Given the description of an element on the screen output the (x, y) to click on. 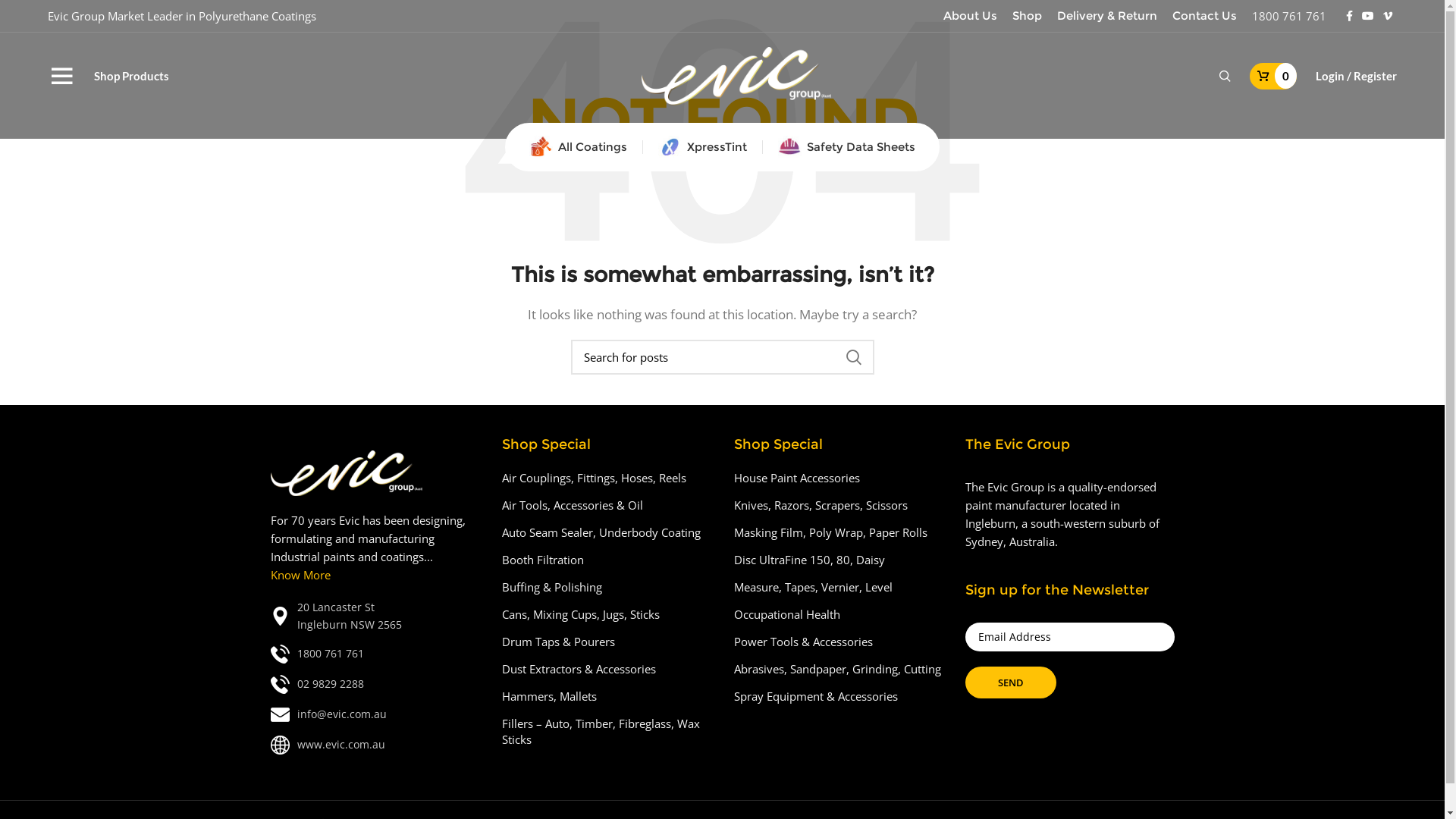
Booth Filtration Element type: text (543, 559)
Search Element type: hover (1224, 75)
Hammers, Mallets Element type: text (550, 696)
Send Element type: text (1010, 682)
Search for posts Element type: hover (721, 356)
XpressTint Element type: text (702, 146)
All Coatings Element type: text (578, 146)
Login / Register Element type: text (1356, 75)
Air Tools, Accessories & Oil Element type: text (573, 505)
SEARCH Element type: text (853, 356)
Disc UltraFine 150, 80, Daisy Element type: text (810, 559)
Know More Element type: text (299, 574)
Spray Equipment & Accessories Element type: text (816, 696)
Masking Film, Poly Wrap, Paper Rolls Element type: text (831, 532)
Dust Extractors & Accessories Element type: text (579, 669)
Shop Element type: text (1026, 15)
Safety Data Sheets Element type: text (846, 146)
Air Couplings, Fittings, Hoses, Reels Element type: text (594, 478)
Power Tools & Accessories Element type: text (804, 641)
House Paint Accessories Element type: text (797, 478)
0 Element type: text (1272, 75)
Abrasives, Sandpaper, Grinding, Cutting Element type: text (838, 669)
Knives, Razors, Scrapers, Scissors Element type: text (821, 505)
Contact Us Element type: text (1204, 15)
Drum Taps & Pourers Element type: text (559, 641)
About Us Element type: text (969, 15)
Occupational Health Element type: text (787, 614)
Cans, Mixing Cups, Jugs, Sticks Element type: text (581, 614)
Delivery & Return Element type: text (1106, 15)
Measure, Tapes, Vernier, Level Element type: text (814, 587)
Auto Seam Sealer, Underbody Coating Element type: text (602, 532)
1800 761 761 Element type: text (1289, 15)
Buffing & Polishing Element type: text (552, 587)
